Given the description of an element on the screen output the (x, y) to click on. 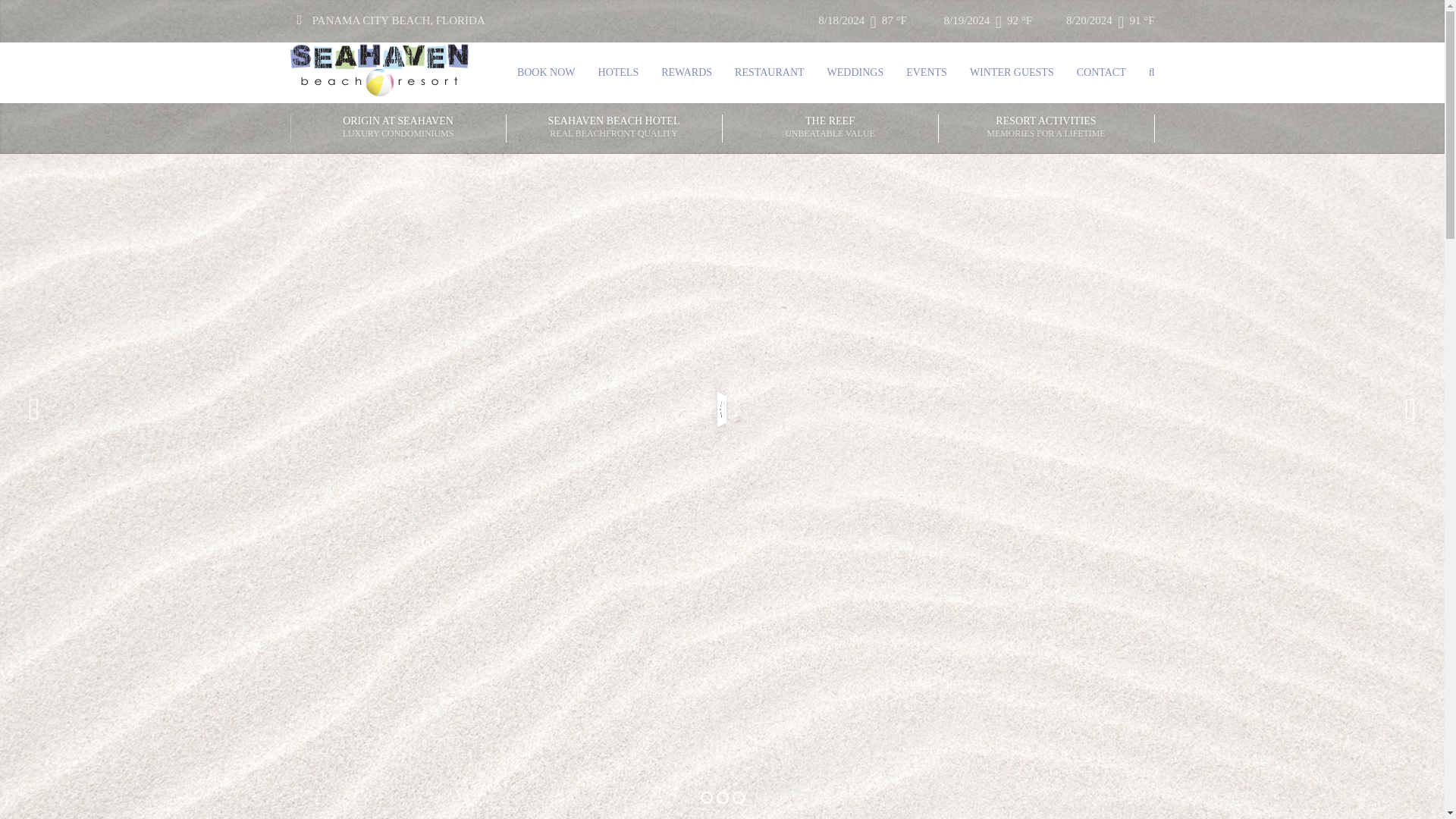
RESTAURANT (769, 72)
BOOK NOW (545, 72)
WEDDINGS (855, 72)
